Given the description of an element on the screen output the (x, y) to click on. 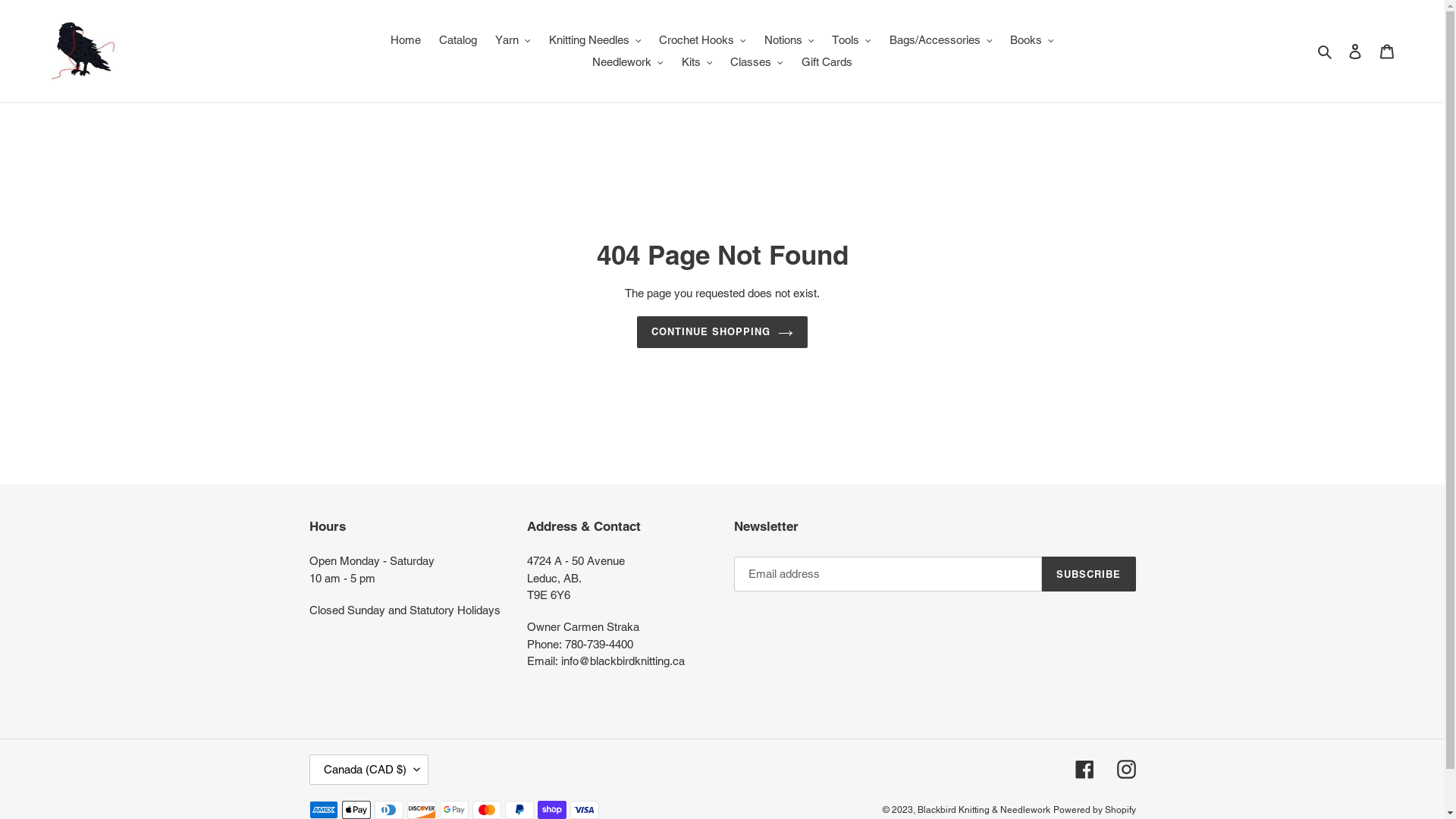
Gift Cards Element type: text (826, 62)
Crochet Hooks Element type: text (702, 40)
Home Element type: text (405, 40)
Needlework Element type: text (627, 62)
Tools Element type: text (851, 40)
Blackbird Knitting & Needlework Element type: text (983, 809)
Powered by Shopify Element type: text (1093, 809)
Instagram Element type: text (1125, 768)
CONTINUE SHOPPING Element type: text (722, 332)
Notions Element type: text (789, 40)
Search Element type: text (1325, 50)
Classes Element type: text (756, 62)
SUBSCRIBE Element type: text (1088, 573)
Bags/Accessories Element type: text (940, 40)
Knitting Needles Element type: text (595, 40)
Canada (CAD $) Element type: text (368, 769)
Log in Element type: text (1355, 50)
Books Element type: text (1031, 40)
Cart Element type: text (1386, 50)
Catalog Element type: text (457, 40)
Facebook Element type: text (1084, 768)
Yarn Element type: text (512, 40)
Kits Element type: text (697, 62)
